Given the description of an element on the screen output the (x, y) to click on. 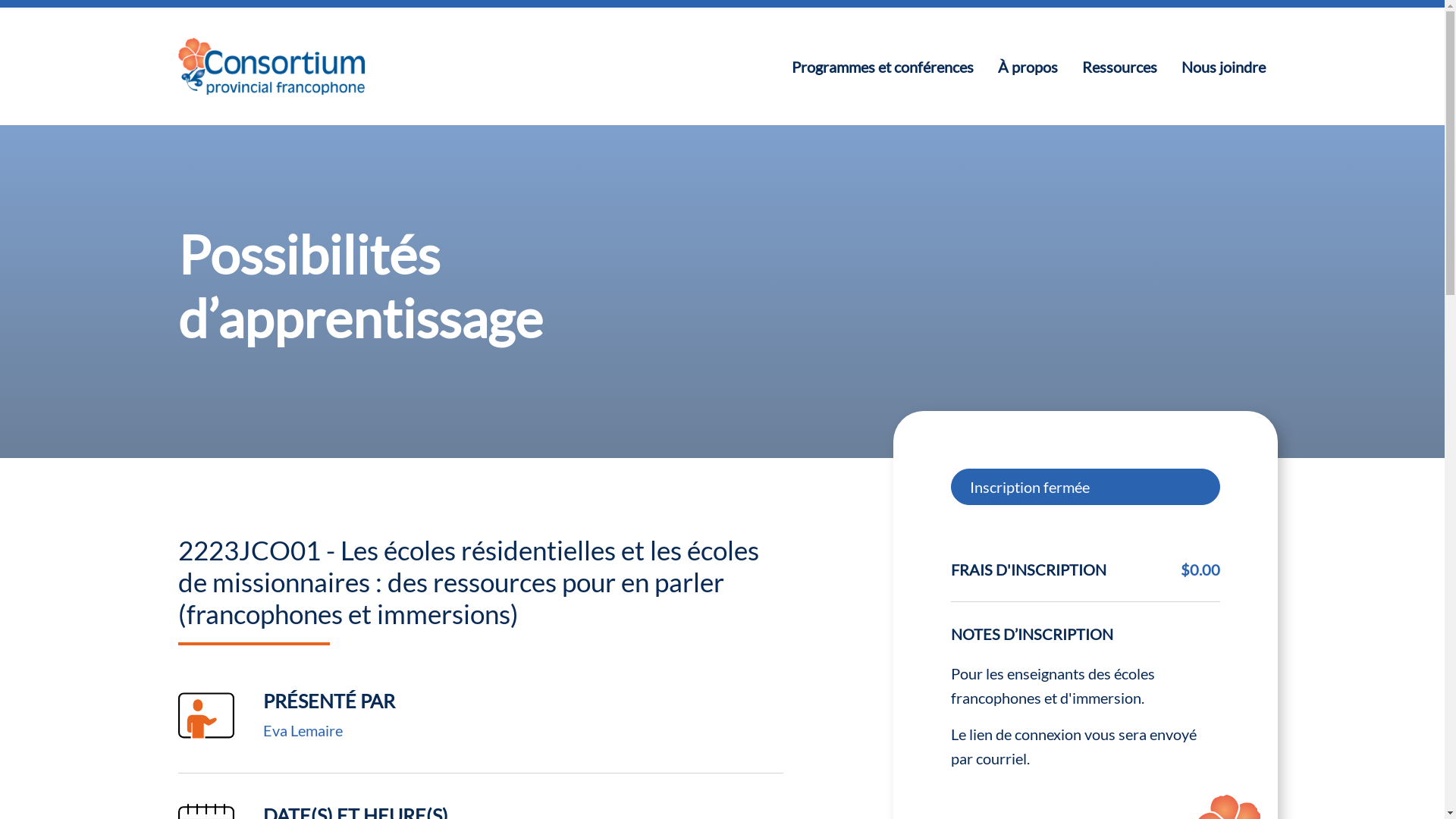
Ressources Element type: text (1119, 66)
Nous joindre Element type: text (1223, 66)
